Given the description of an element on the screen output the (x, y) to click on. 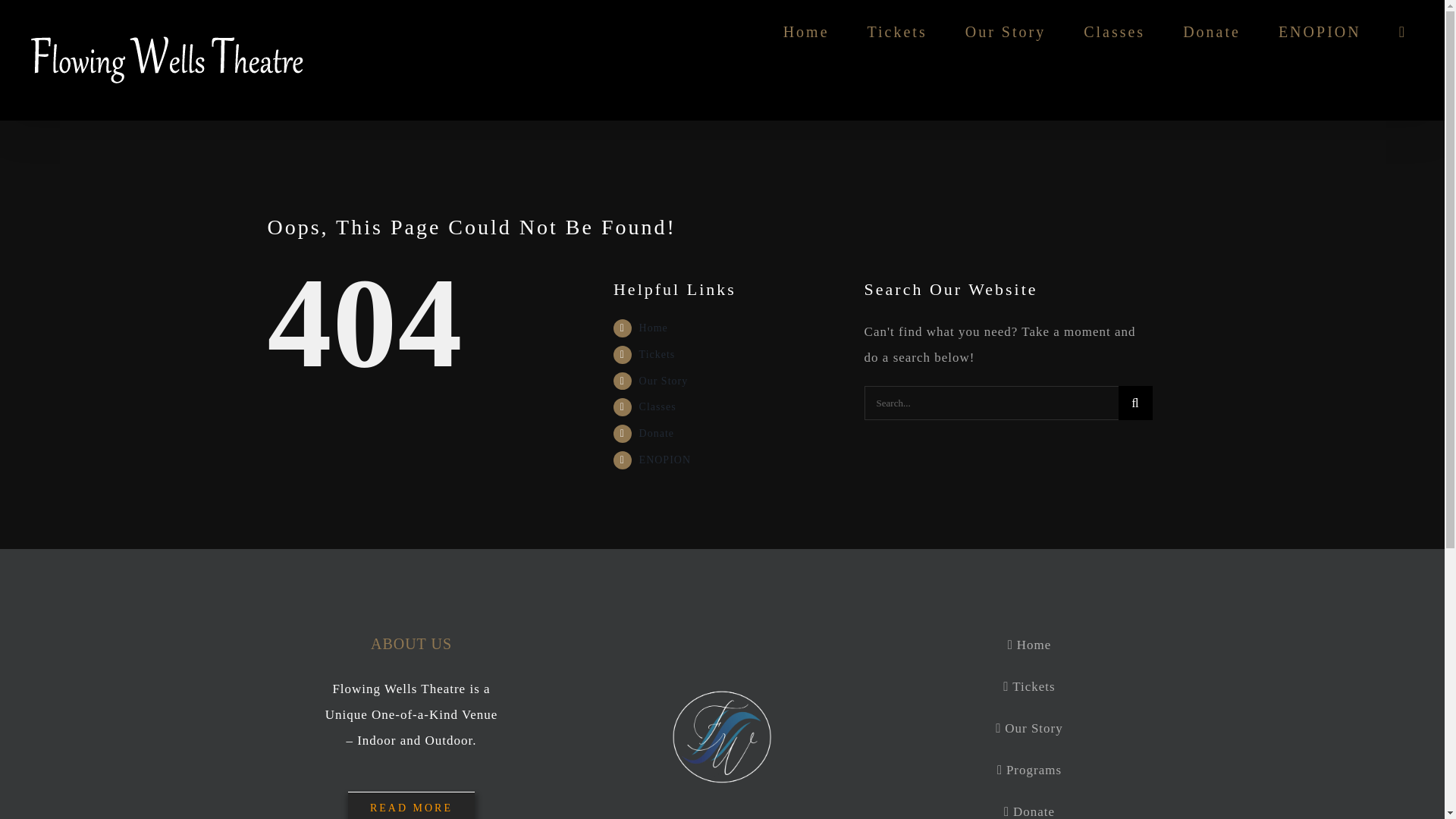
Classes (658, 406)
Our Story (1005, 31)
Classes (1113, 31)
Tickets (657, 354)
ENOPION (664, 460)
Donate (656, 432)
ENOPION (1319, 31)
Tickets (897, 31)
Donate (1211, 31)
Home (653, 327)
Our Story (663, 380)
